Given the description of an element on the screen output the (x, y) to click on. 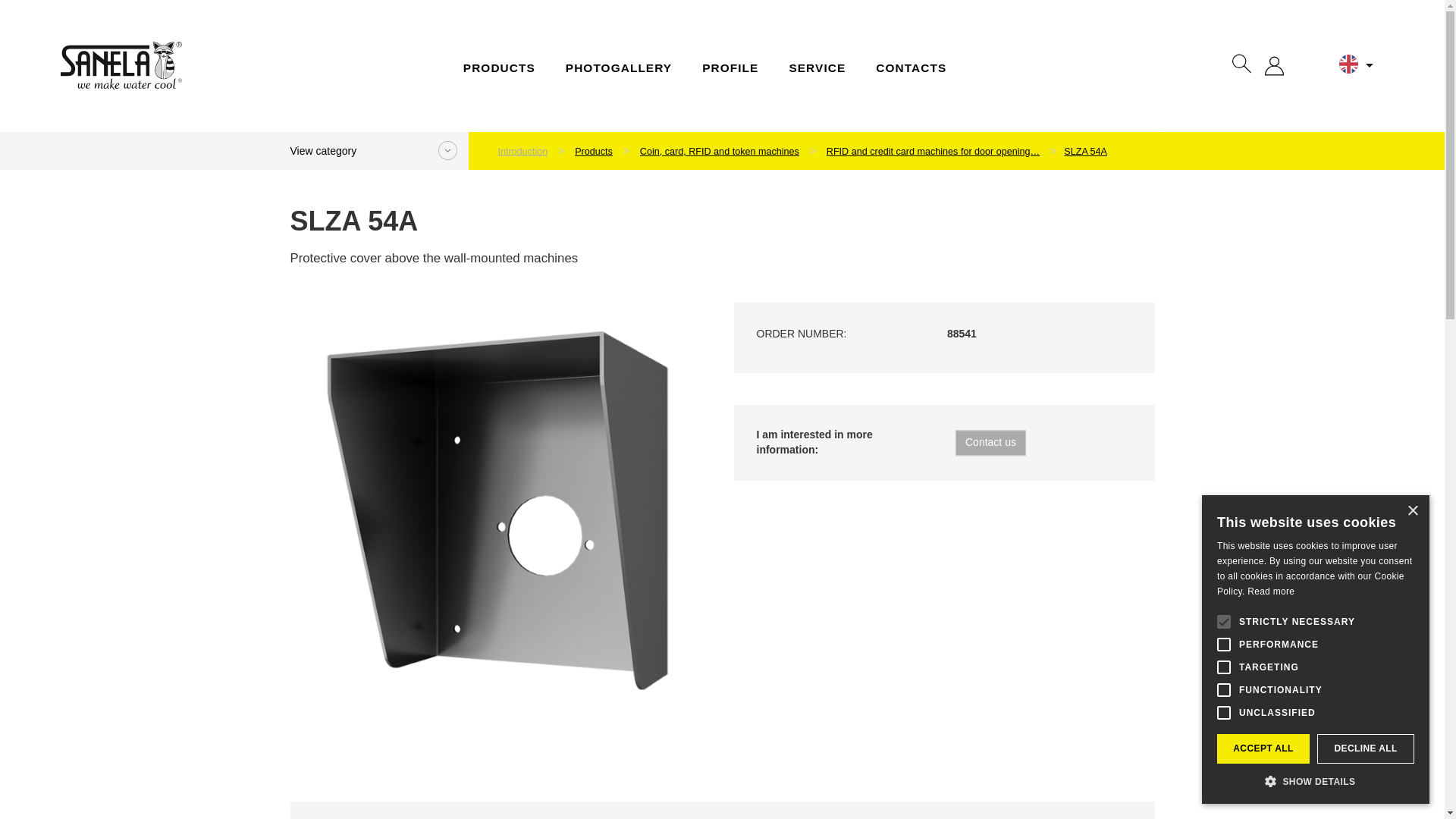
SLZA 54A (1084, 151)
Products (592, 151)
Coin, card, RFID and token machines (719, 151)
Back to home page - SANELA.eu (121, 65)
Introduction (522, 151)
Contact us (990, 442)
